Given the description of an element on the screen output the (x, y) to click on. 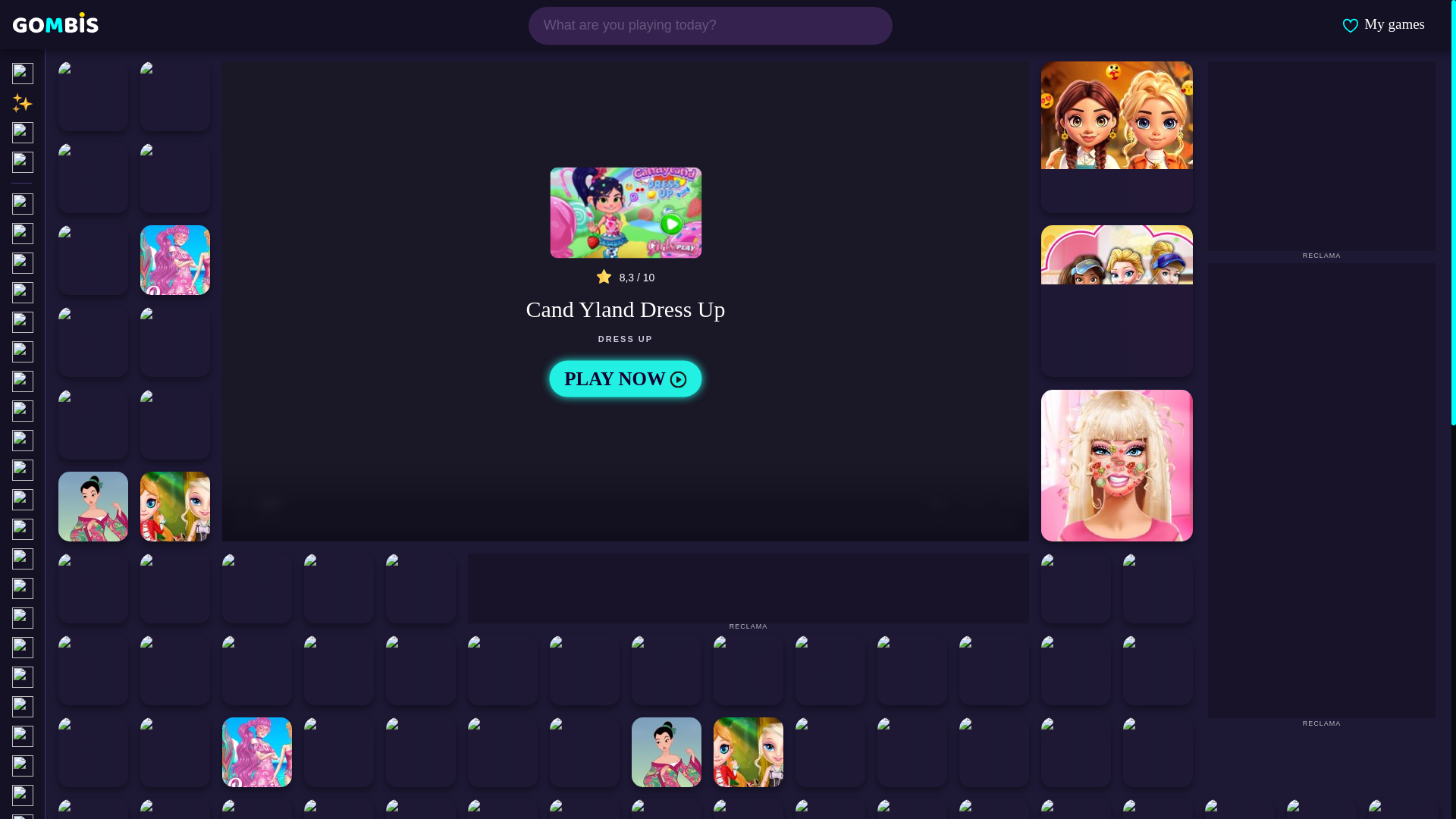
Sports (84, 380)
PLAY NOW (624, 379)
Two Player (84, 292)
New games (84, 103)
Multiplayer (84, 617)
Escape (84, 795)
Action (84, 263)
My games (1383, 24)
Random (84, 162)
Soccer (84, 706)
Minecraft (84, 470)
Pool (84, 736)
Board (84, 815)
Motorbike (84, 529)
Defense (84, 677)
